Given the description of an element on the screen output the (x, y) to click on. 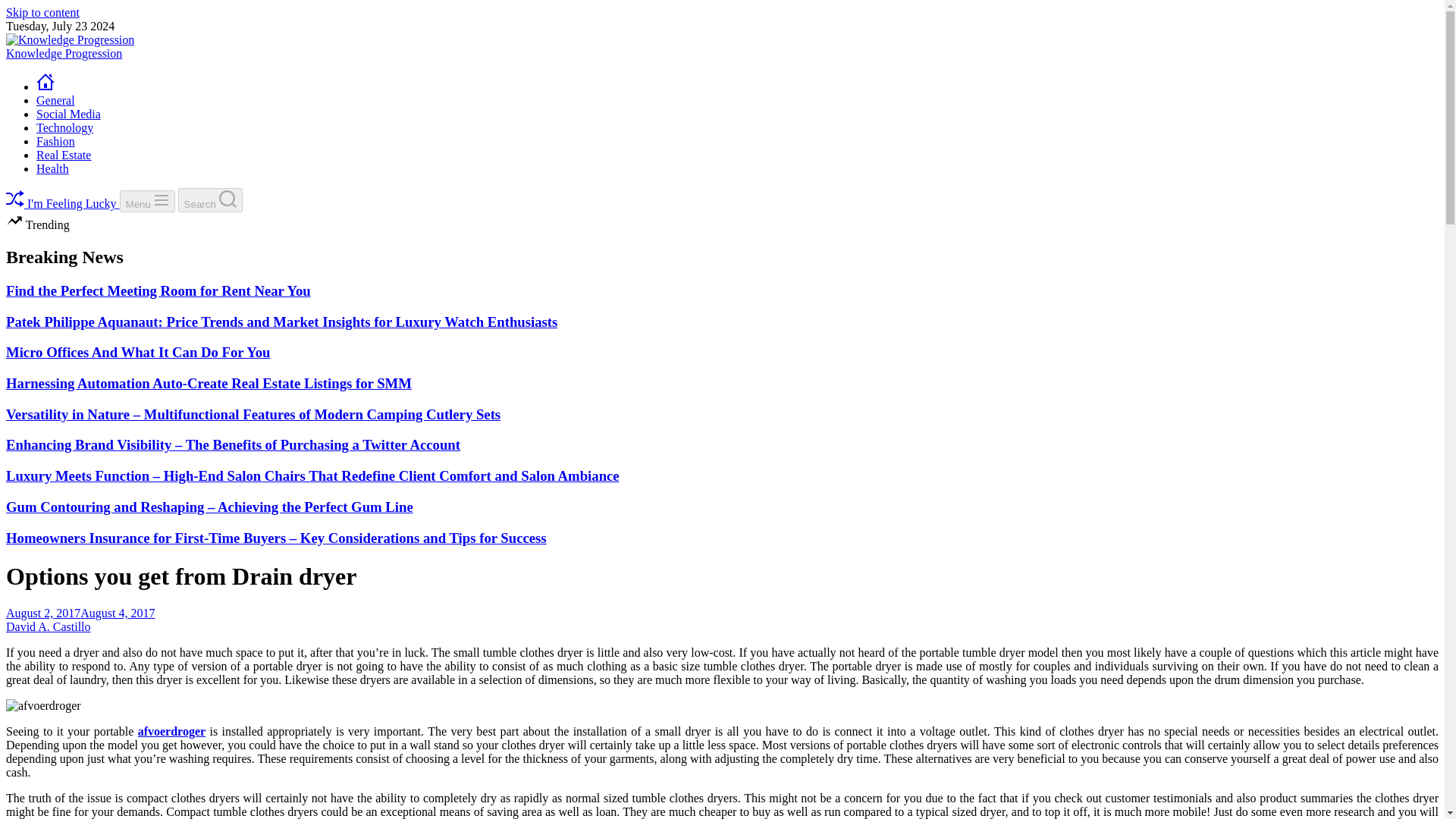
Real Estate (63, 154)
Menu (146, 201)
I'm Feeling Lucky (62, 203)
Social Media (68, 113)
Skip to content (42, 11)
Home (45, 86)
August 2, 2017August 4, 2017 (79, 612)
Micro Offices And What It Can Do For You (137, 351)
General (55, 100)
Knowledge Progression (63, 52)
afvoerdroger (171, 730)
Find the Perfect Meeting Room for Rent Near You (158, 290)
Fashion (55, 141)
Health (52, 168)
